Given the description of an element on the screen output the (x, y) to click on. 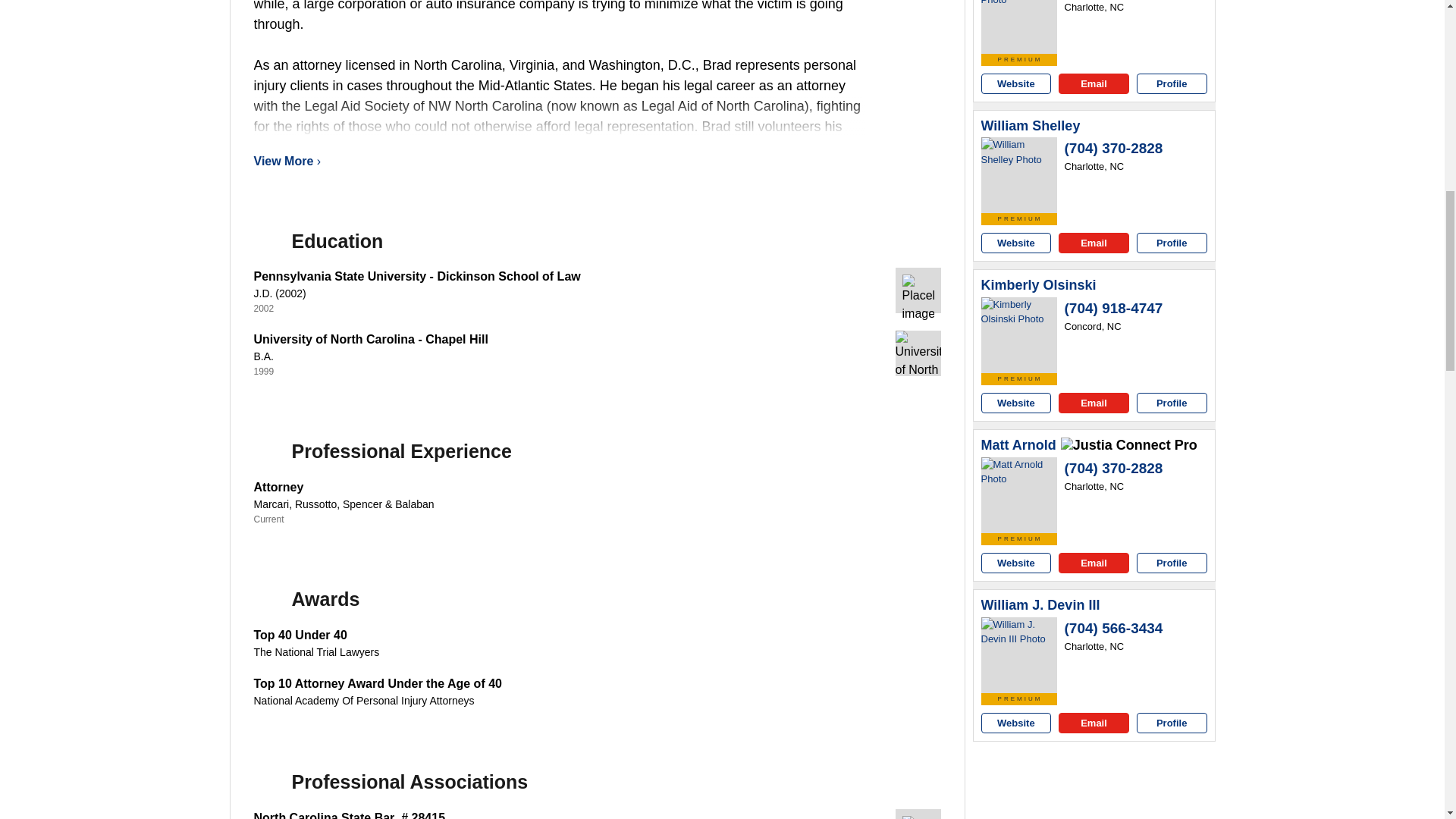
Paul Tharp (1019, 27)
